Given the description of an element on the screen output the (x, y) to click on. 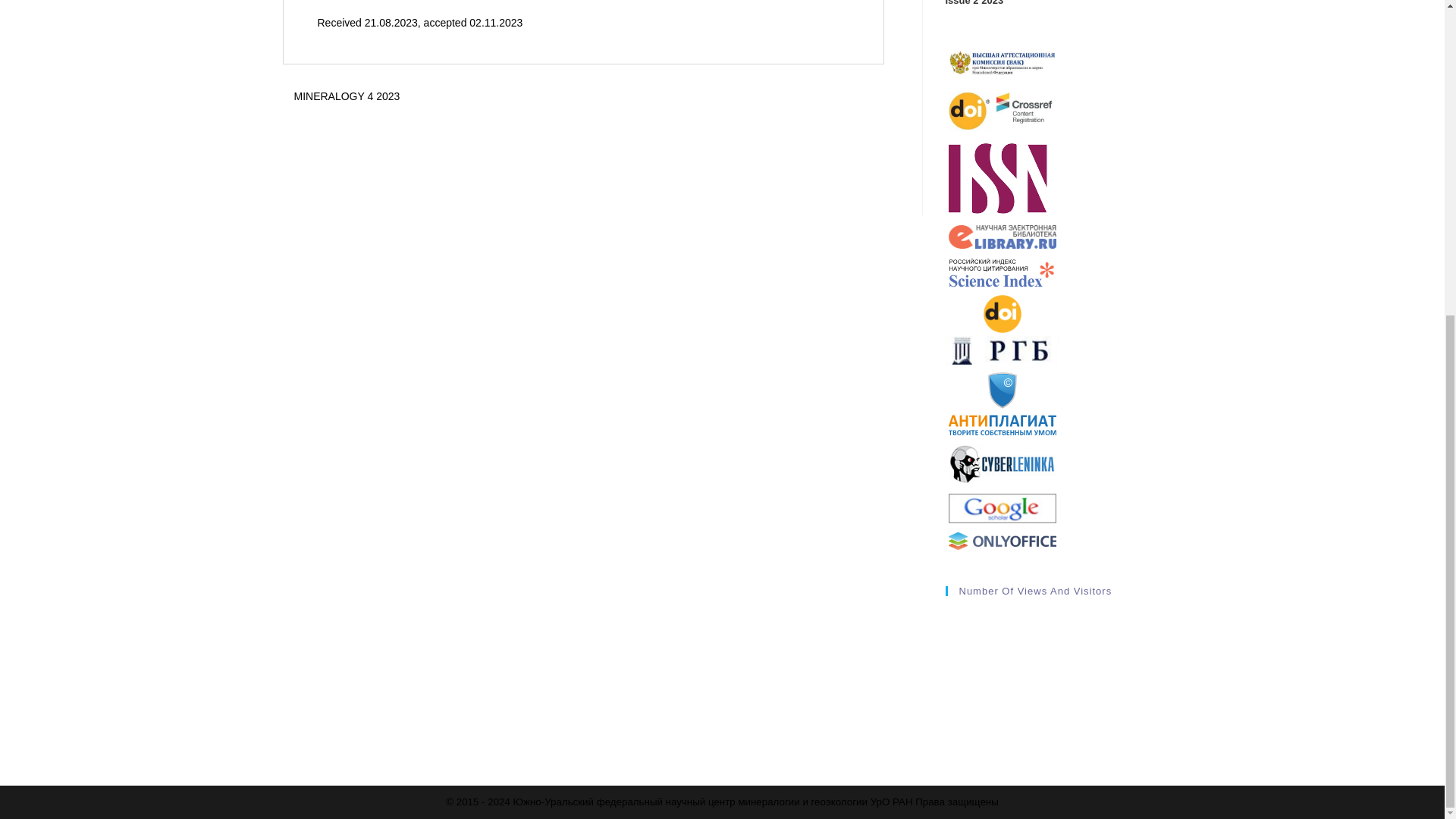
Issue 2 2023 (973, 2)
